Given the description of an element on the screen output the (x, y) to click on. 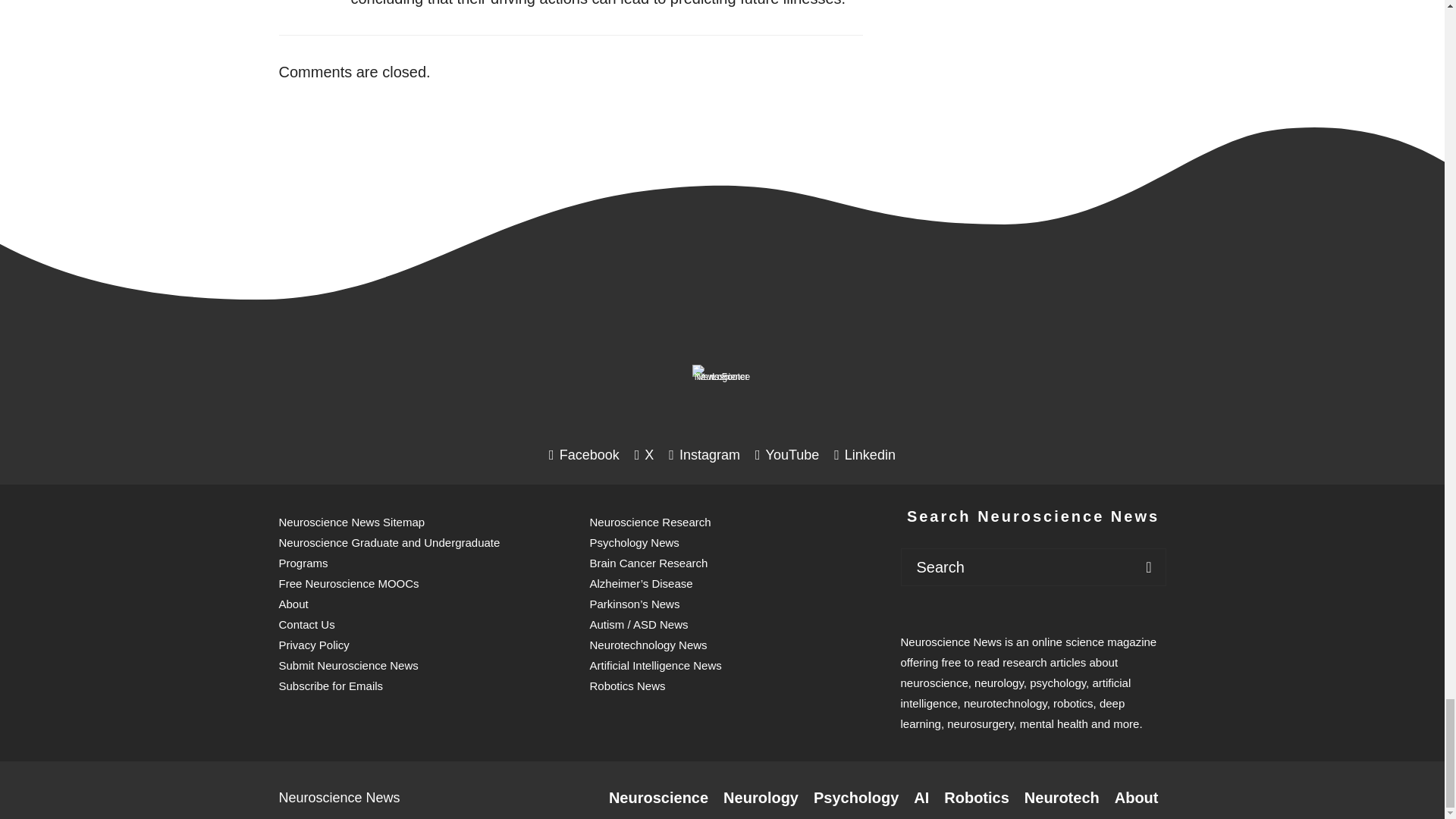
Neurology Research Articles (760, 797)
Neuroscience Research (657, 797)
Psychology Research Articles (855, 797)
